Given the description of an element on the screen output the (x, y) to click on. 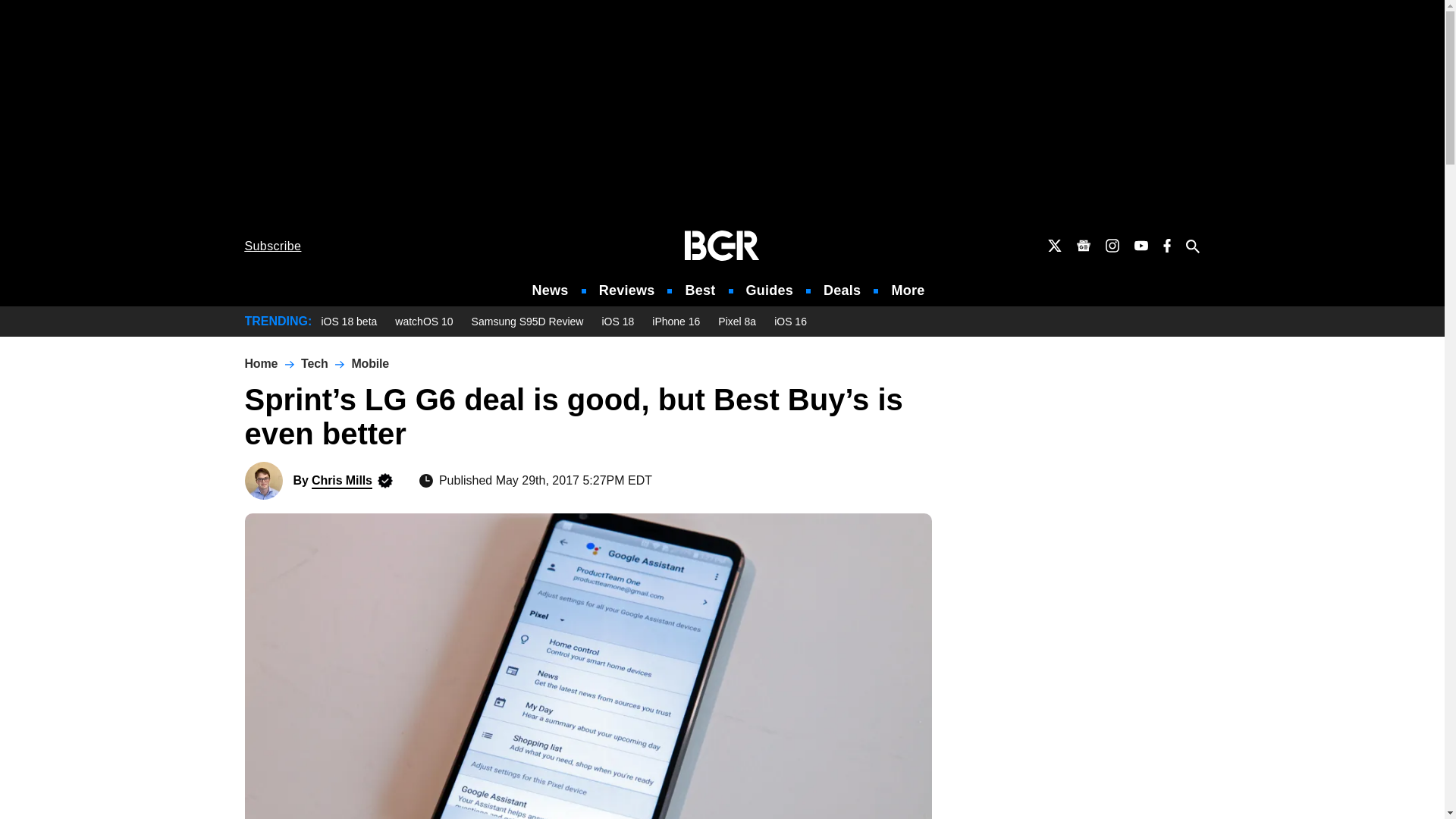
Reviews (626, 290)
Deals (842, 290)
More (907, 290)
Subscribe (272, 245)
News (550, 290)
Guides (769, 290)
Best (699, 290)
Posts by Chris Mills (341, 480)
